Given the description of an element on the screen output the (x, y) to click on. 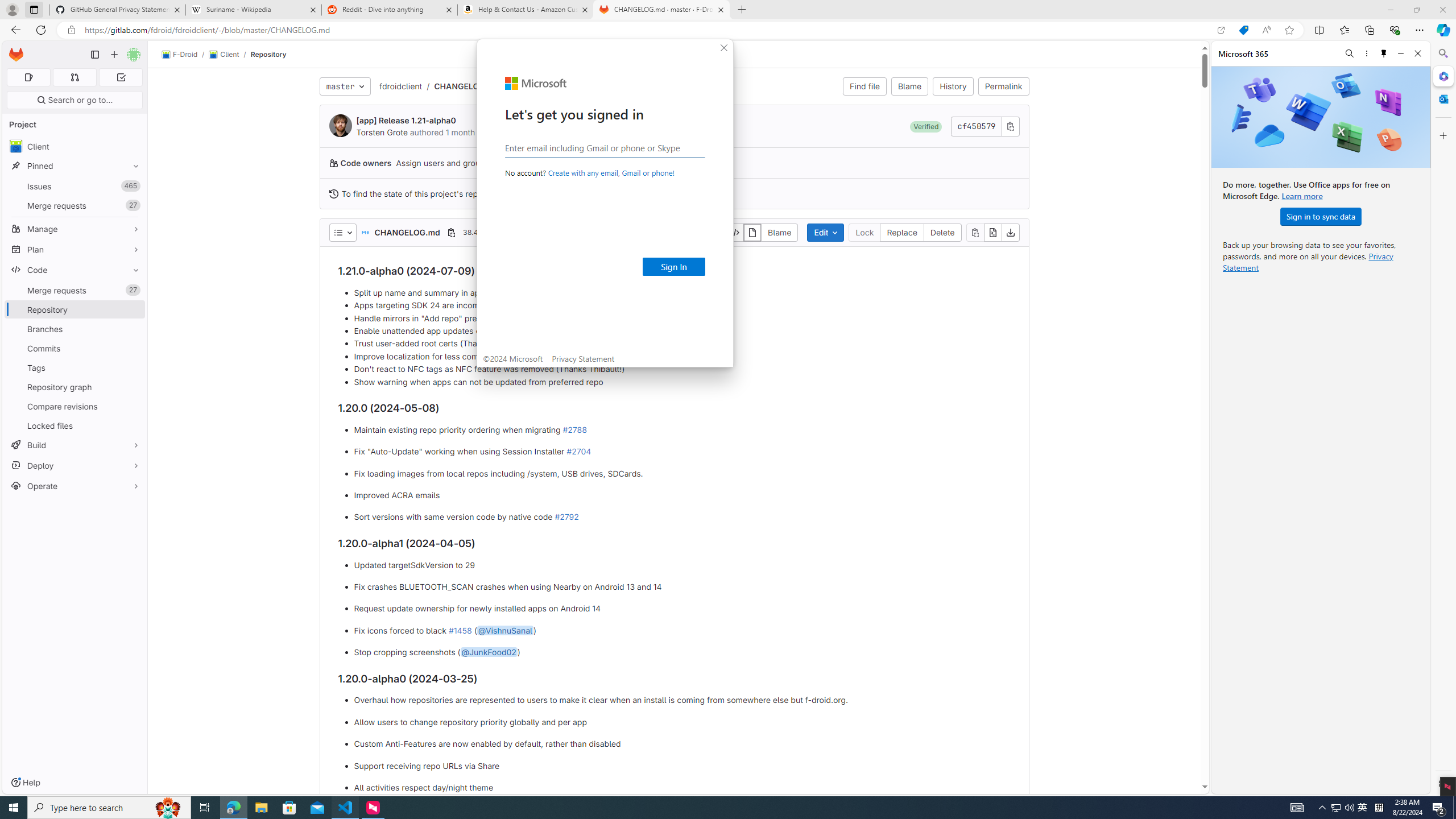
Extensions (Ctrl+Shift+X) (13, 142)
Terminal (Ctrl+`) (356, 539)
Debug:  (88, 789)
UTF-8 (1310, 789)
Customize Layout... (1369, 9)
Terminal 1 powershell (1422, 554)
Launch Profile... (1400, 539)
Source Control (Ctrl+Shift+G) (13, 87)
Views and More Actions... (1412, 539)
Previous Match (Shift+Enter) (1320, 60)
Go Back (Alt+LeftArrow) (546, 9)
Outline Section (99, 764)
